Given the description of an element on the screen output the (x, y) to click on. 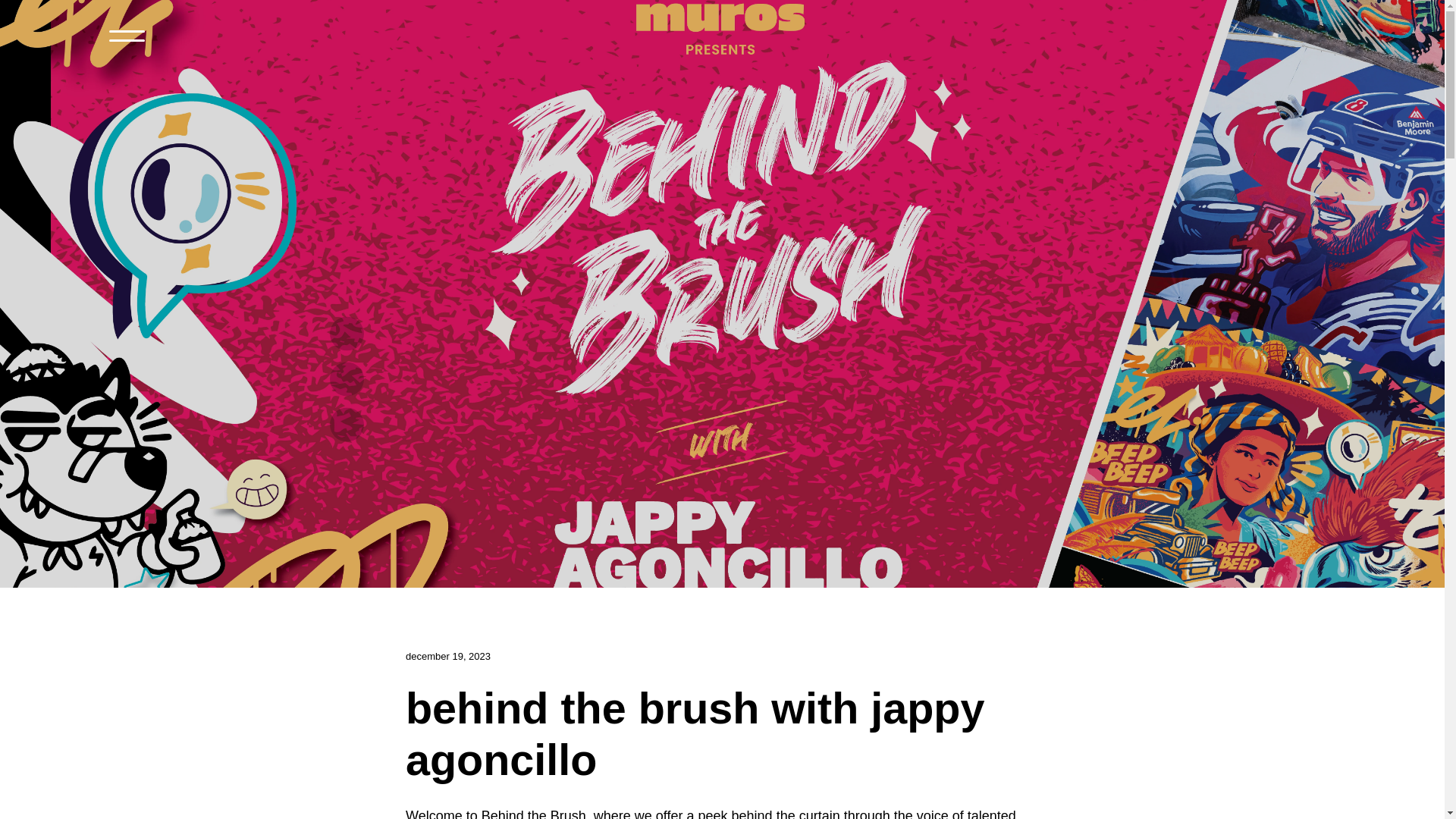
Share on Facebook (347, 333)
Share on Twitter (347, 379)
Share on LinkedIn (347, 424)
